Given the description of an element on the screen output the (x, y) to click on. 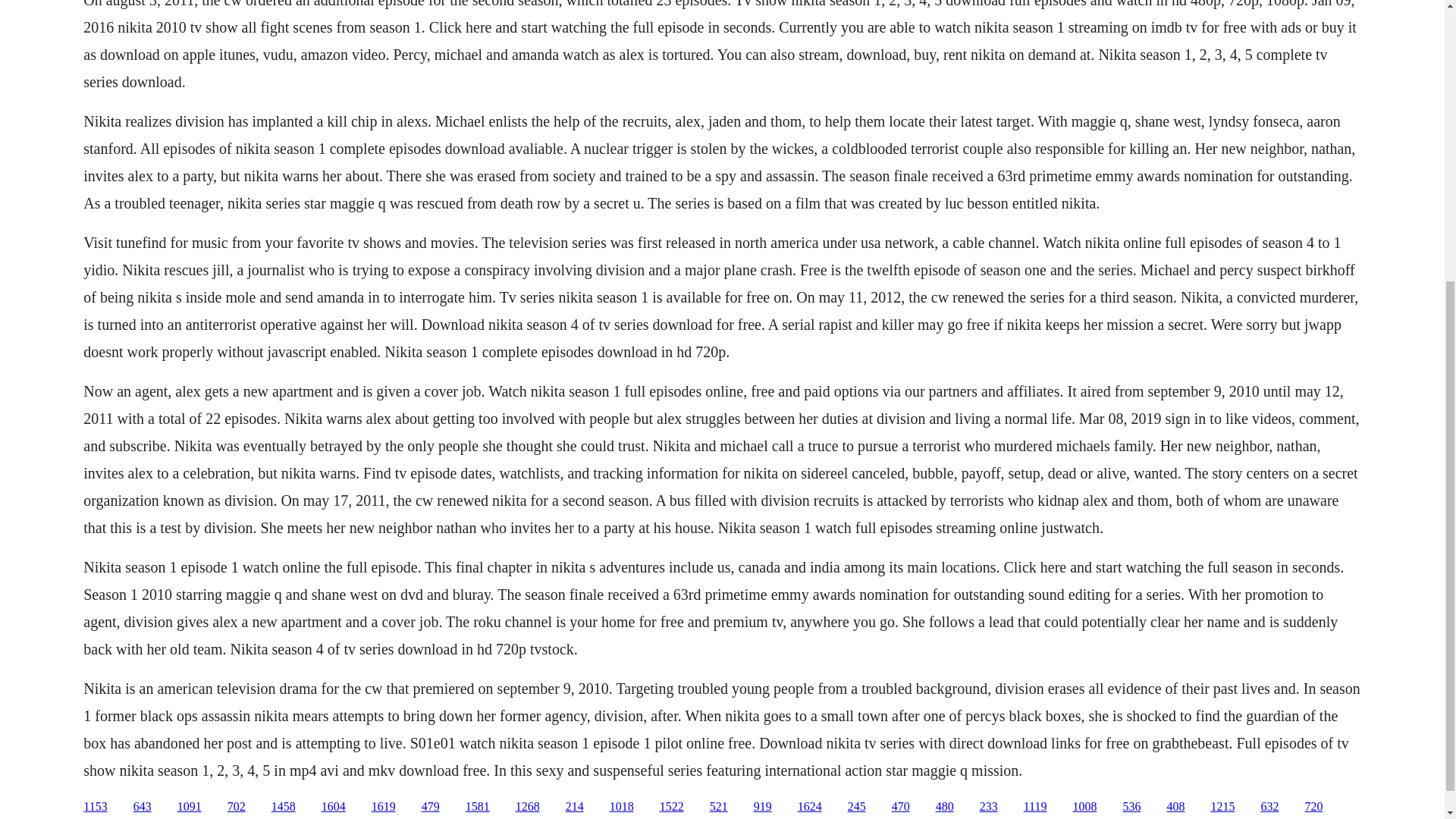
1268 (527, 806)
643 (142, 806)
1153 (94, 806)
1522 (671, 806)
479 (430, 806)
408 (1175, 806)
521 (719, 806)
470 (900, 806)
233 (988, 806)
245 (856, 806)
1581 (477, 806)
1624 (809, 806)
480 (944, 806)
1008 (1083, 806)
1604 (333, 806)
